Given the description of an element on the screen output the (x, y) to click on. 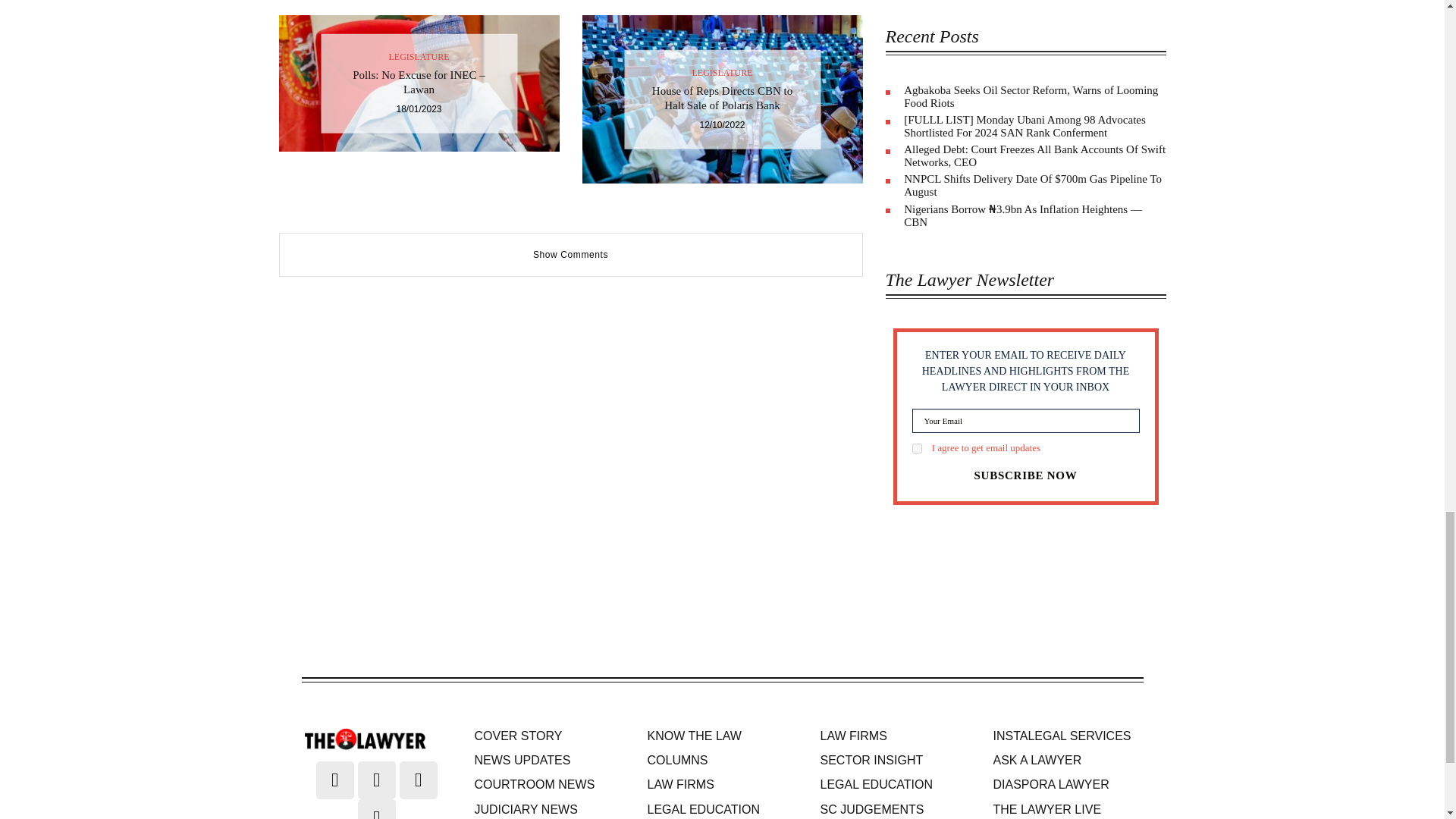
View all posts in LEGISLATURE (418, 55)
View all posts in LEGISLATURE (721, 71)
SUBSCRIBE NOW (1024, 475)
1 (916, 448)
